Given the description of an element on the screen output the (x, y) to click on. 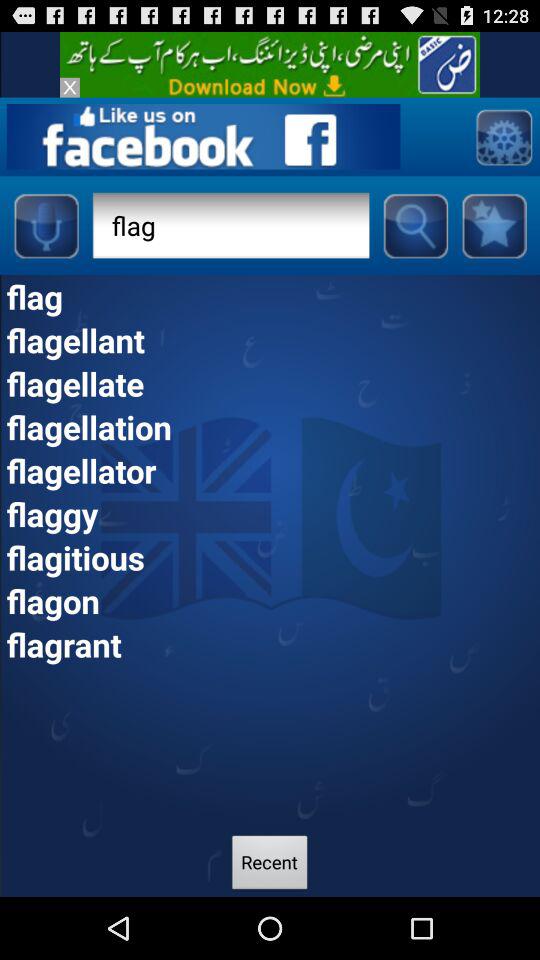
cloess butten (69, 87)
